Given the description of an element on the screen output the (x, y) to click on. 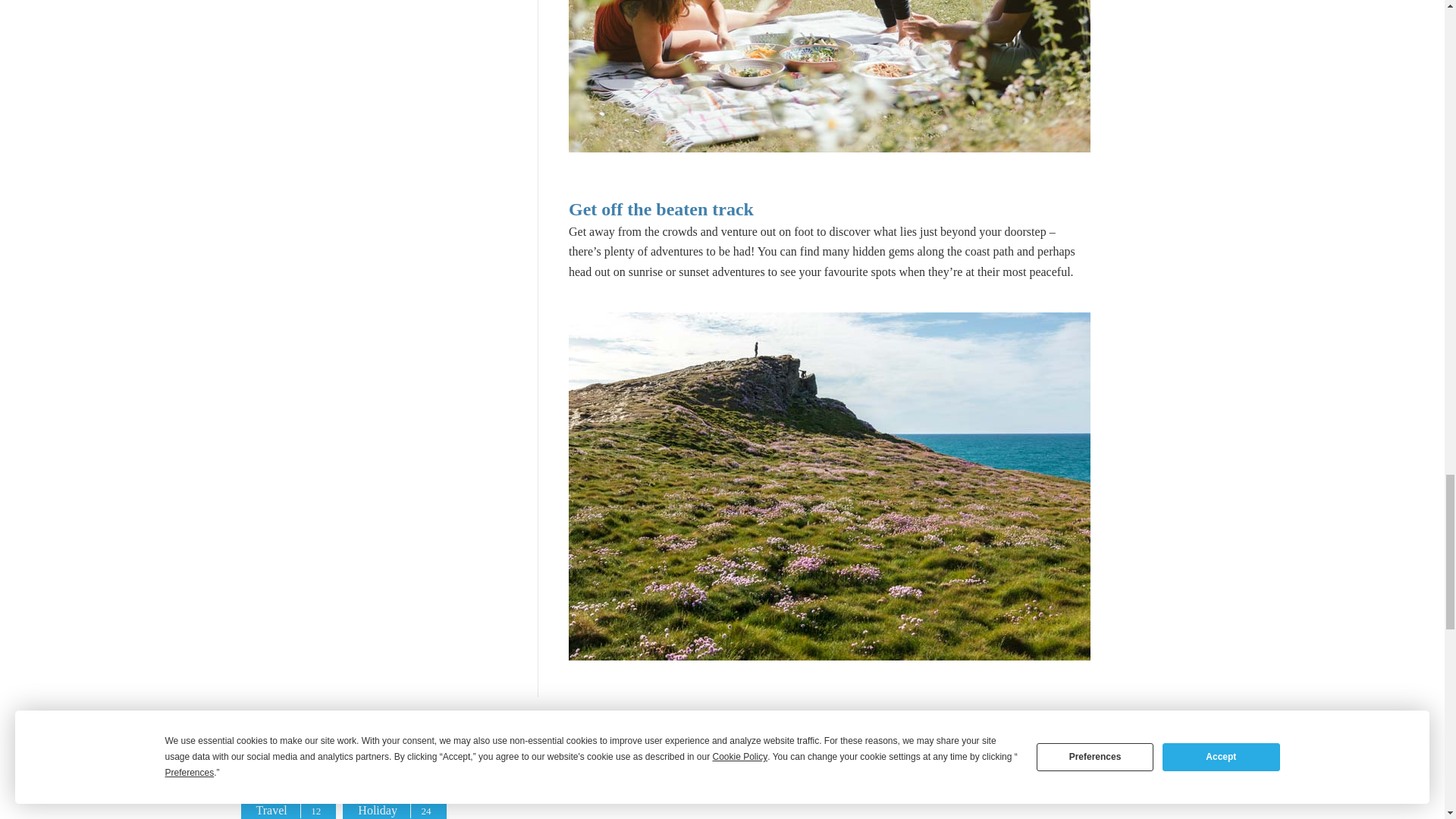
Picnic in the sun (829, 76)
